Given the description of an element on the screen output the (x, y) to click on. 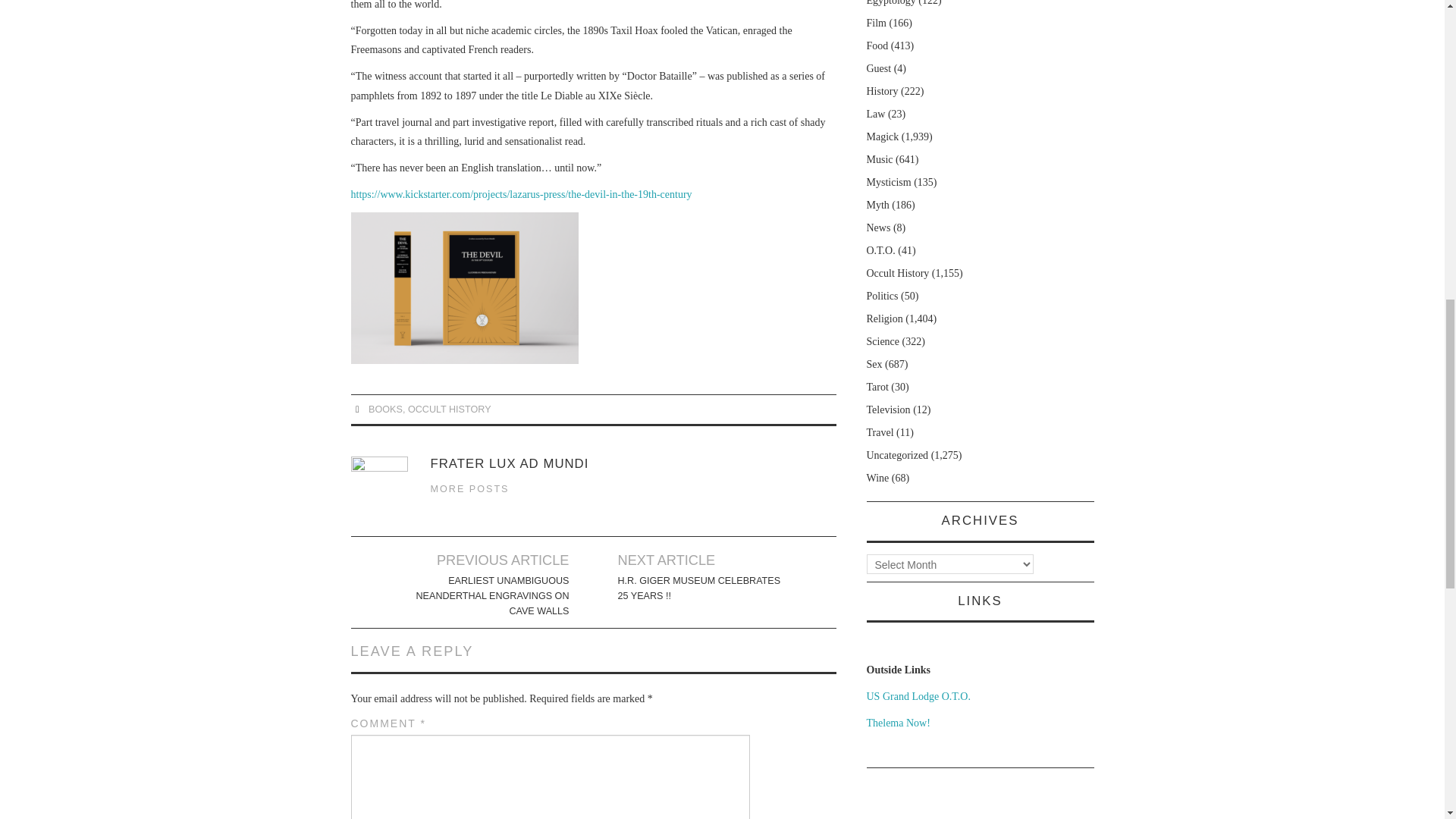
Film (875, 22)
Food (877, 45)
BOOKS (385, 409)
EARLIEST UNAMBIGUOUS NEANDERTHAL ENGRAVINGS ON CAVE WALLS (483, 596)
MORE POSTS (469, 489)
OCCULT HISTORY (449, 409)
History (882, 91)
H.R. GIGER MUSEUM CELEBRATES 25 YEARS !! (702, 588)
Guest (878, 68)
Egyptology (890, 2)
